Given the description of an element on the screen output the (x, y) to click on. 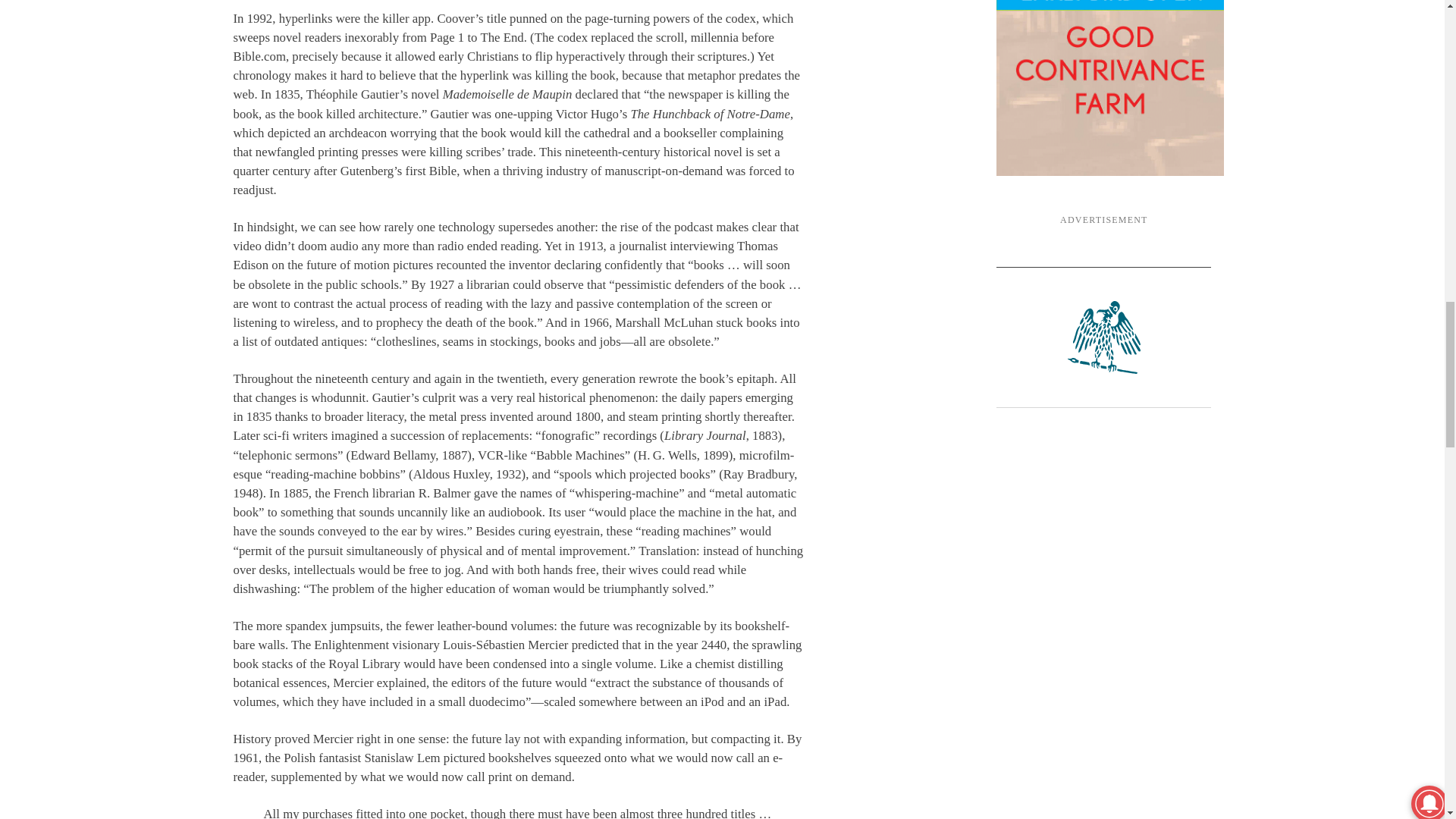
3rd party ad content (1109, 88)
